Given the description of an element on the screen output the (x, y) to click on. 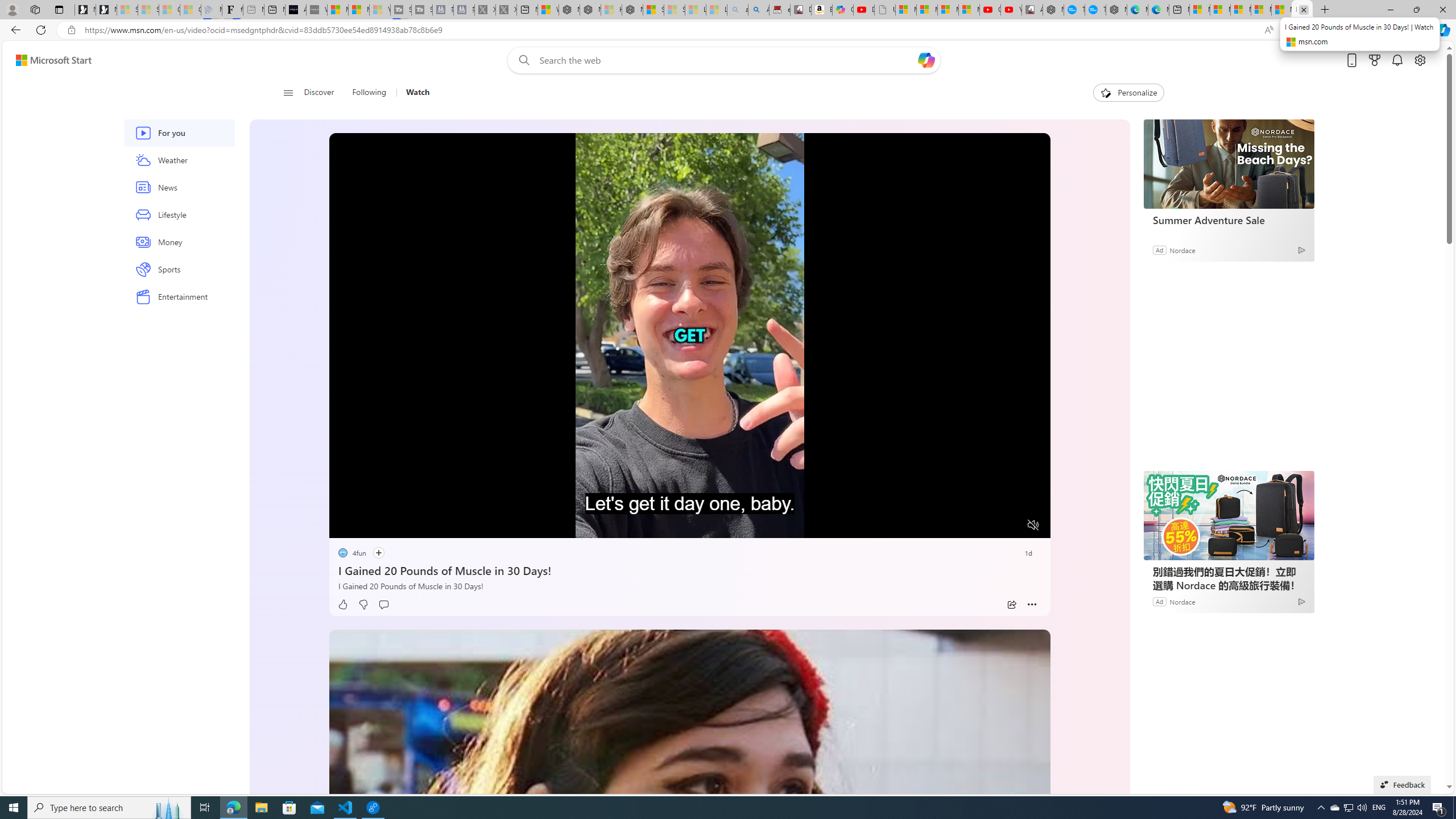
Restore (1416, 9)
Enhance video (1291, 29)
Microsoft account | Microsoft Account Privacy Settings (1219, 9)
Microsoft Start Sports (337, 9)
Skip to content (49, 59)
Open settings (1420, 60)
